Given the description of an element on the screen output the (x, y) to click on. 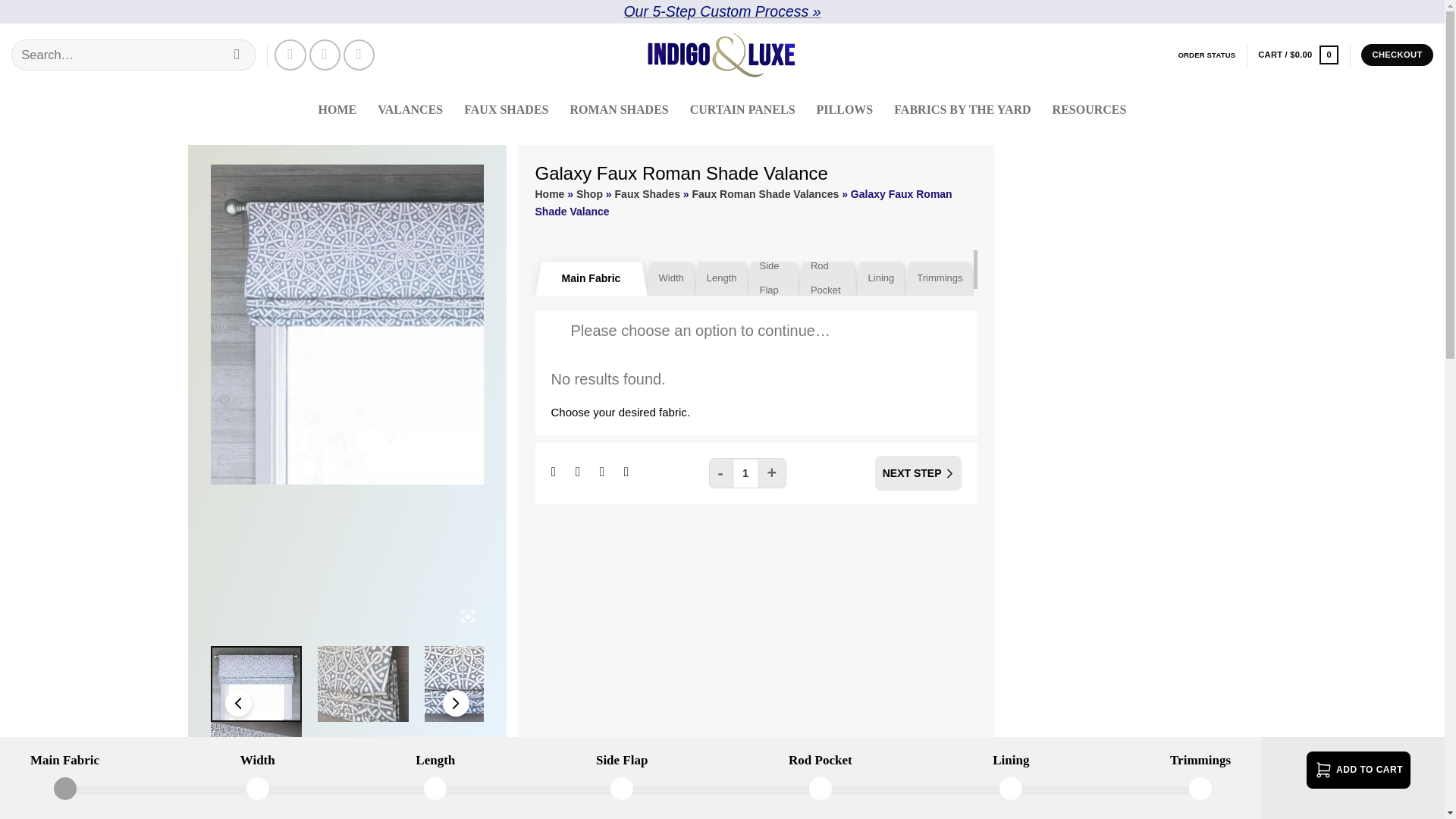
ROMAN SHADES (618, 109)
Follow on YouTube (358, 54)
FAUX SHADES (505, 109)
Follow on Pinterest (324, 54)
VALANCES (409, 109)
CHECKOUT (1396, 55)
Search (236, 55)
Follow on Instagram (290, 54)
galaxy-faux-shade-1 (403, 324)
ORDER STATUS (1205, 54)
HOME (337, 109)
Cart (1297, 55)
